Given the description of an element on the screen output the (x, y) to click on. 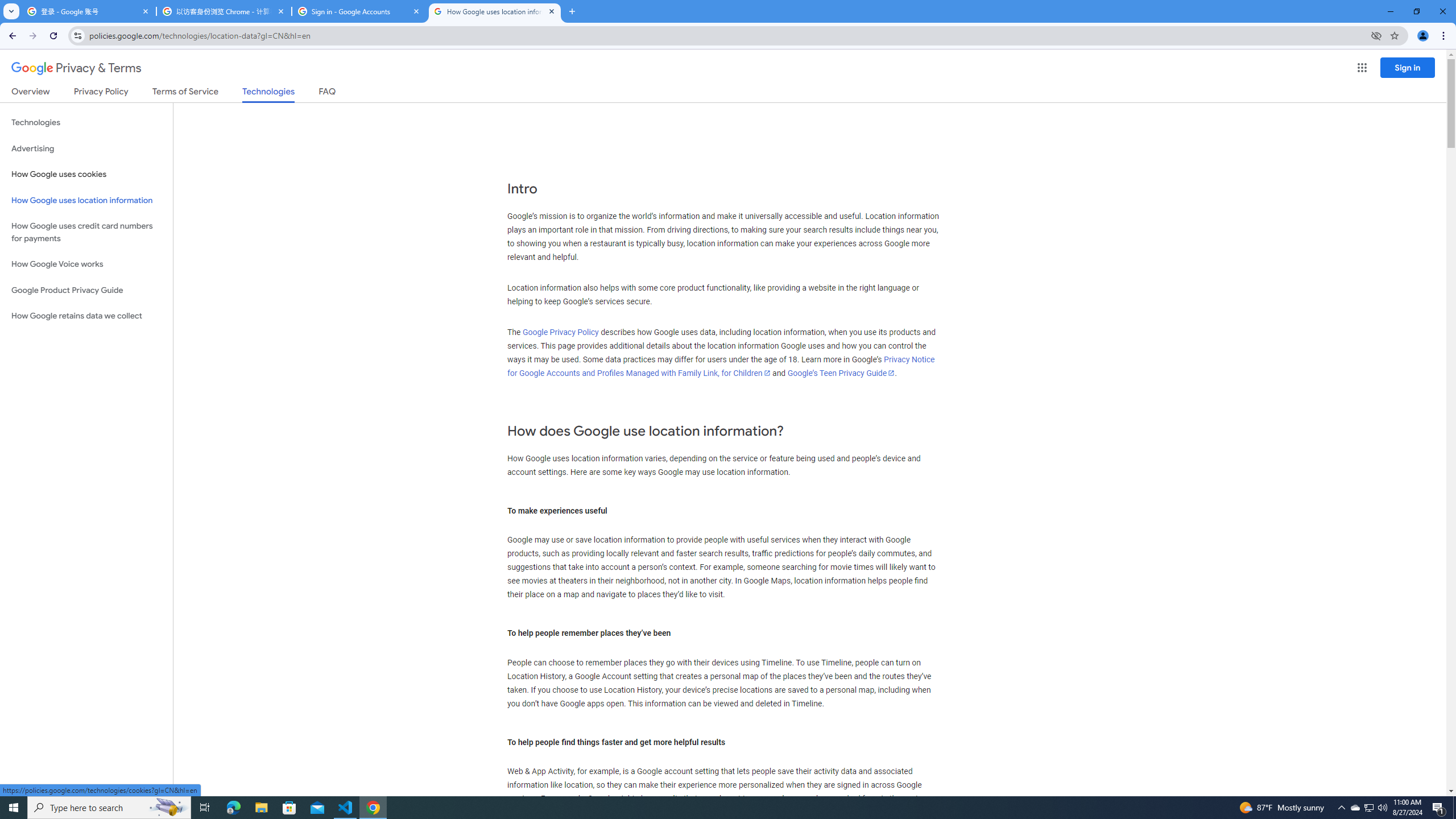
Sign in - Google Accounts (359, 11)
Advertising (86, 148)
Google Privacy Policy (560, 331)
Google Product Privacy Guide (86, 289)
How Google uses cookies (86, 174)
